Given the description of an element on the screen output the (x, y) to click on. 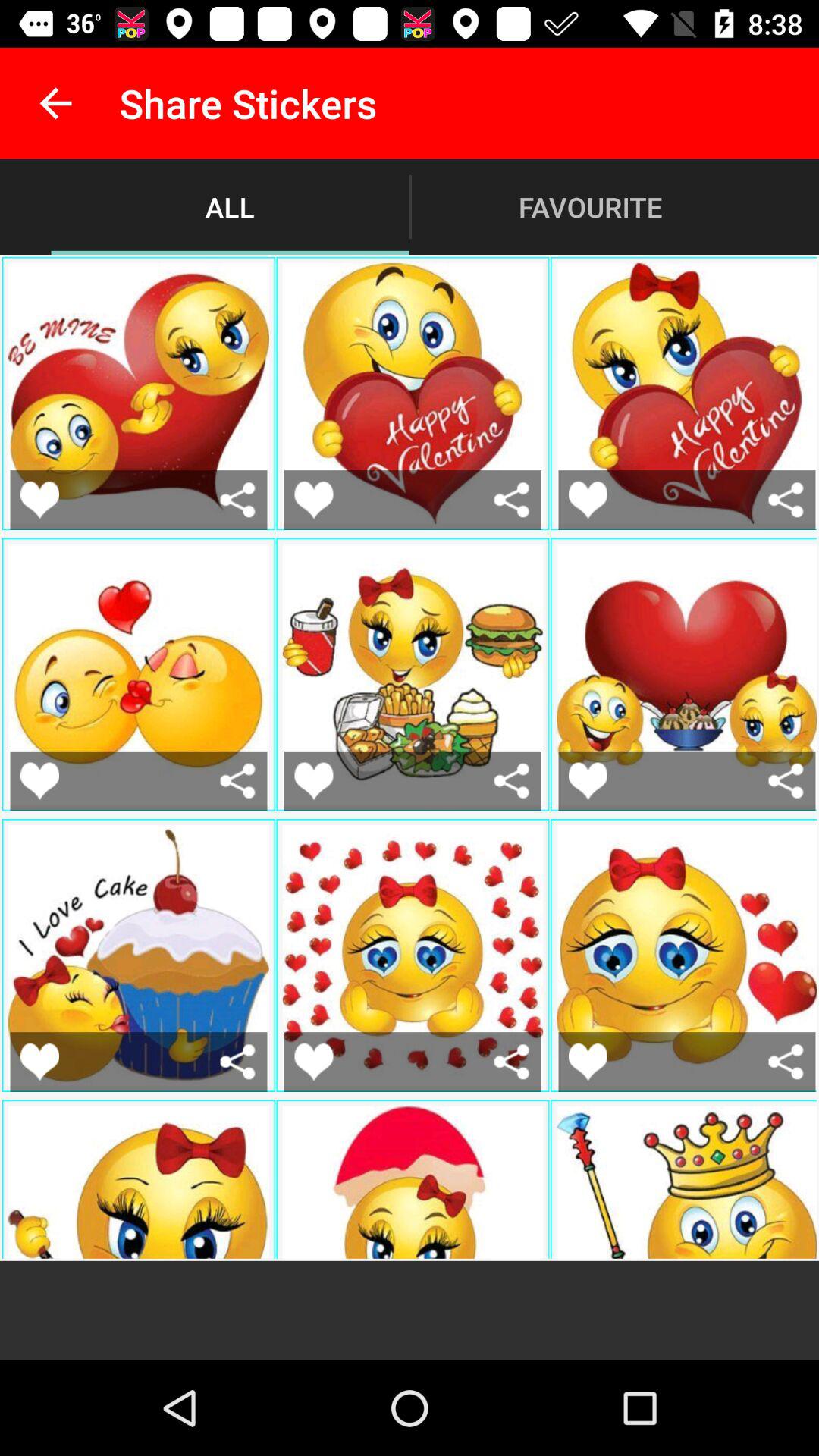
share sticker (785, 1061)
